Given the description of an element on the screen output the (x, y) to click on. 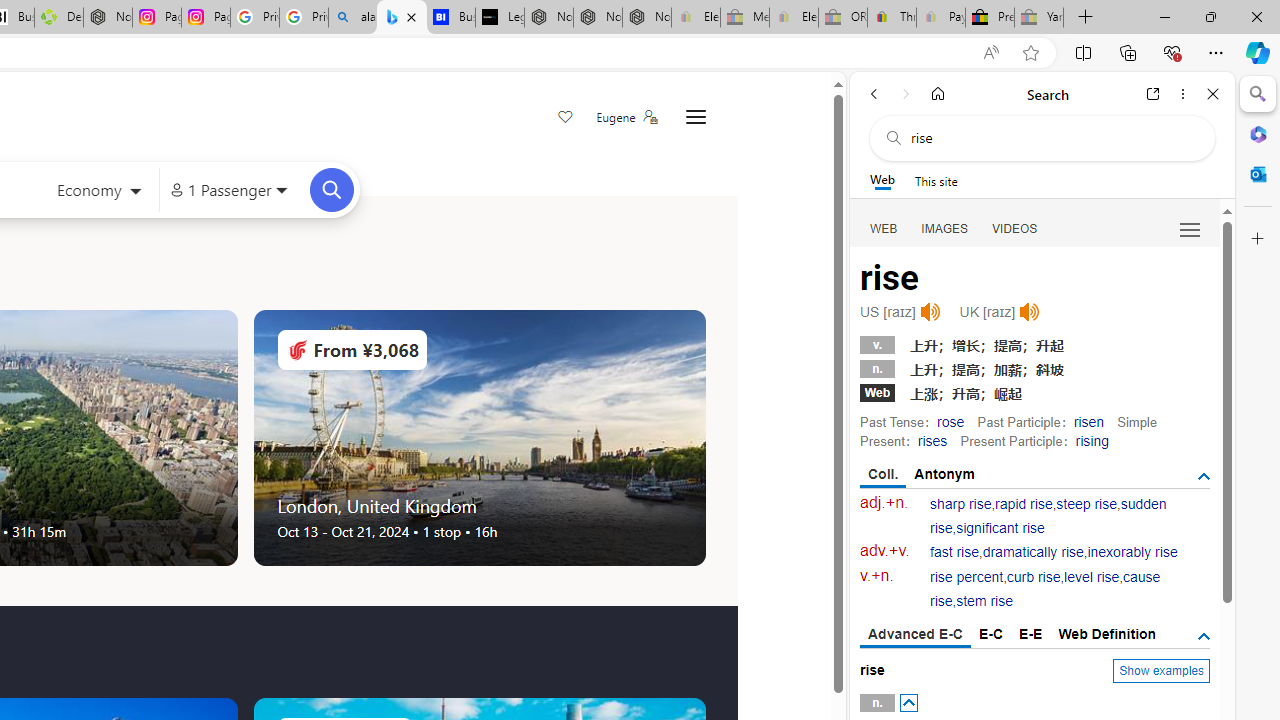
Web Definition (1106, 633)
rapid rise (1023, 503)
rose (950, 421)
Airlines Logo (297, 349)
stem rise (984, 601)
Select class of service (98, 192)
Eugene (626, 117)
rising (1091, 440)
significant rise (1000, 528)
